Given the description of an element on the screen output the (x, y) to click on. 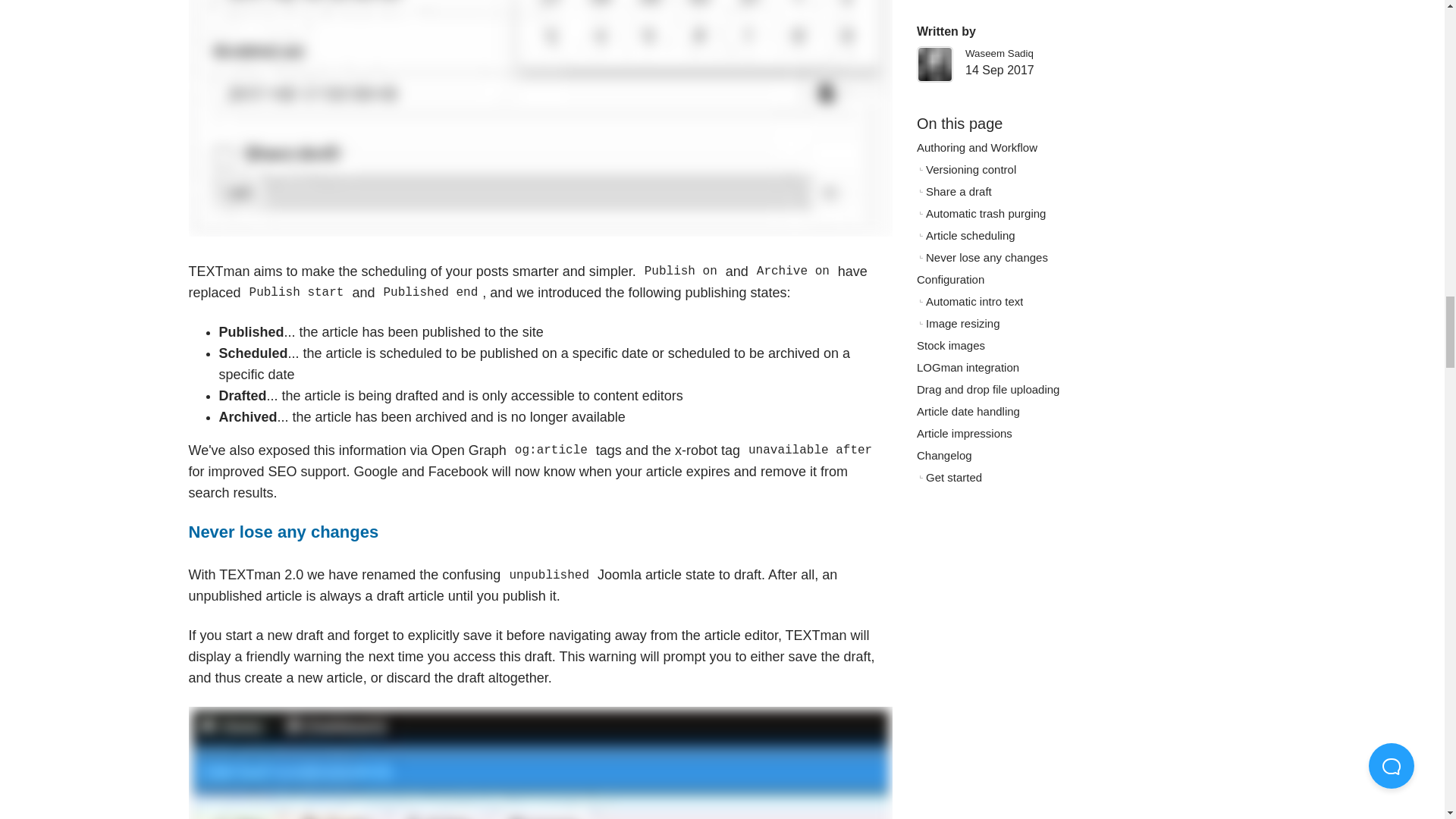
Never lose any changes (282, 531)
